Given the description of an element on the screen output the (x, y) to click on. 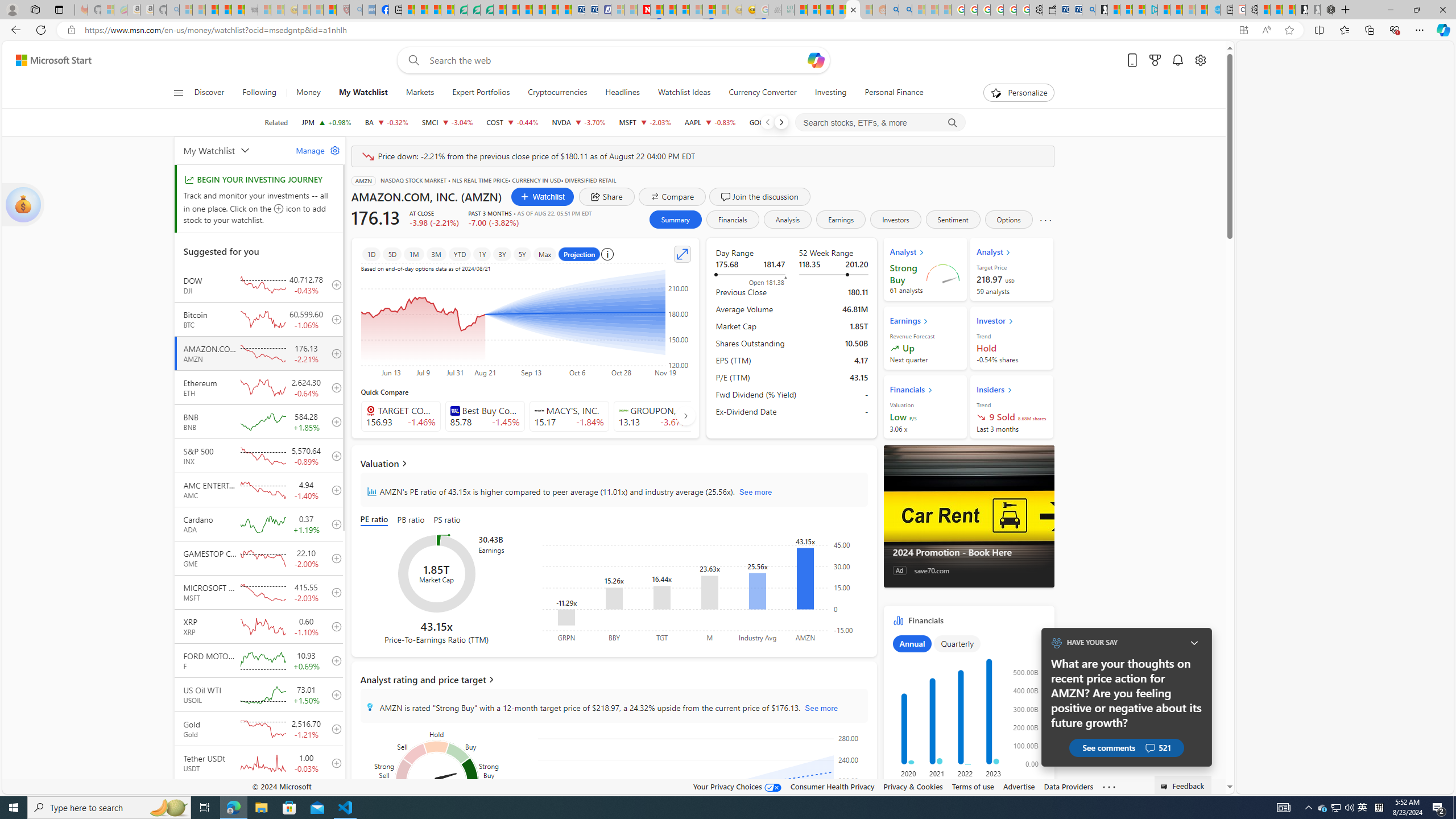
MSFT MICROSOFT CORPORATION decrease 415.55 -8.59 -2.03% (644, 122)
Watchlist Ideas (684, 92)
Earnings (841, 219)
Bing Real Estate - Home sales and rental listings (1088, 9)
PB ratio (411, 520)
Currency Converter (762, 92)
